Given the description of an element on the screen output the (x, y) to click on. 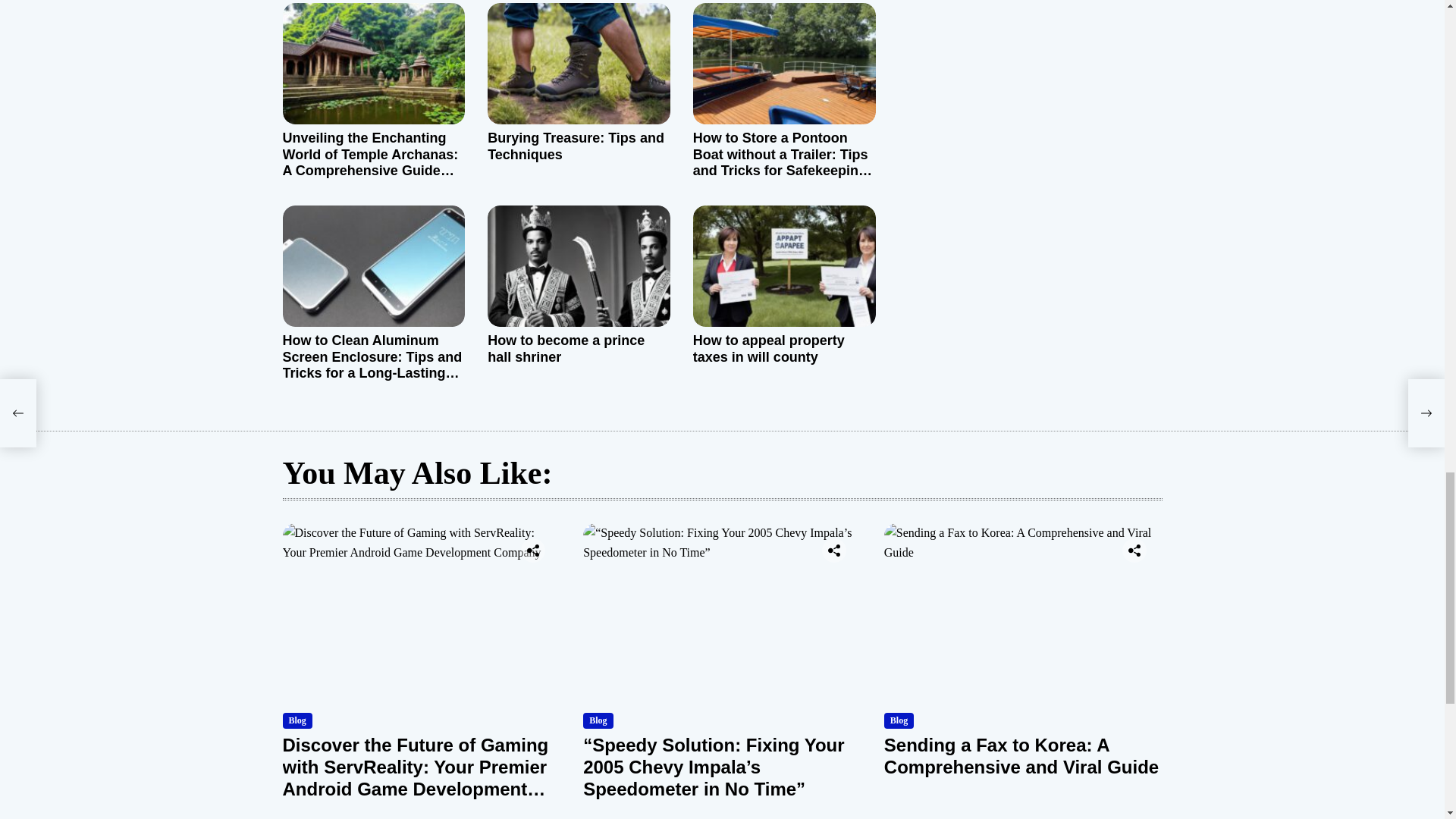
How to become a prince hall shriner (566, 348)
How to appeal property taxes in will county (768, 348)
Burying Treasure: Tips and Techniques (575, 146)
